Given the description of an element on the screen output the (x, y) to click on. 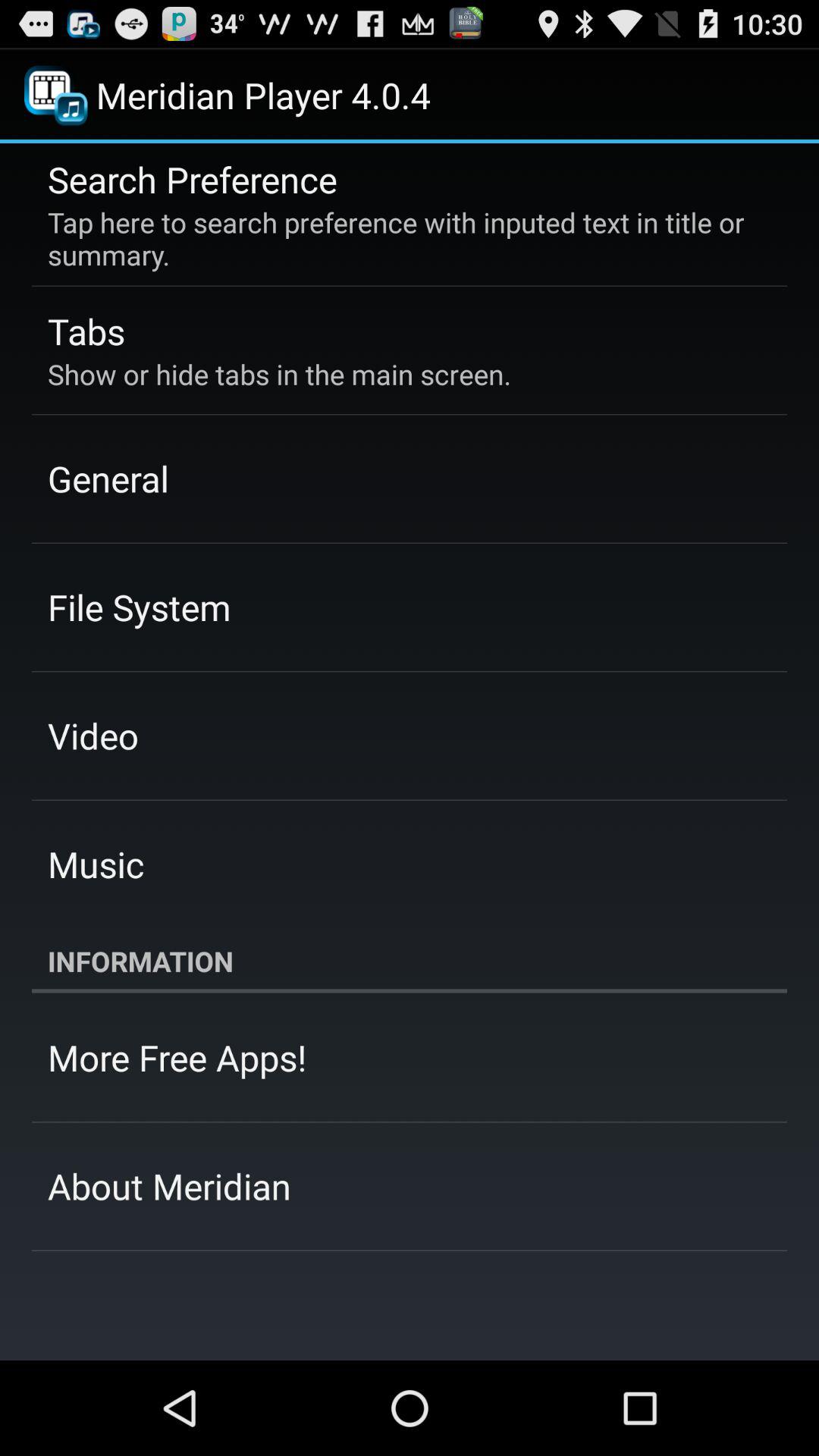
open tap here to app (399, 238)
